Given the description of an element on the screen output the (x, y) to click on. 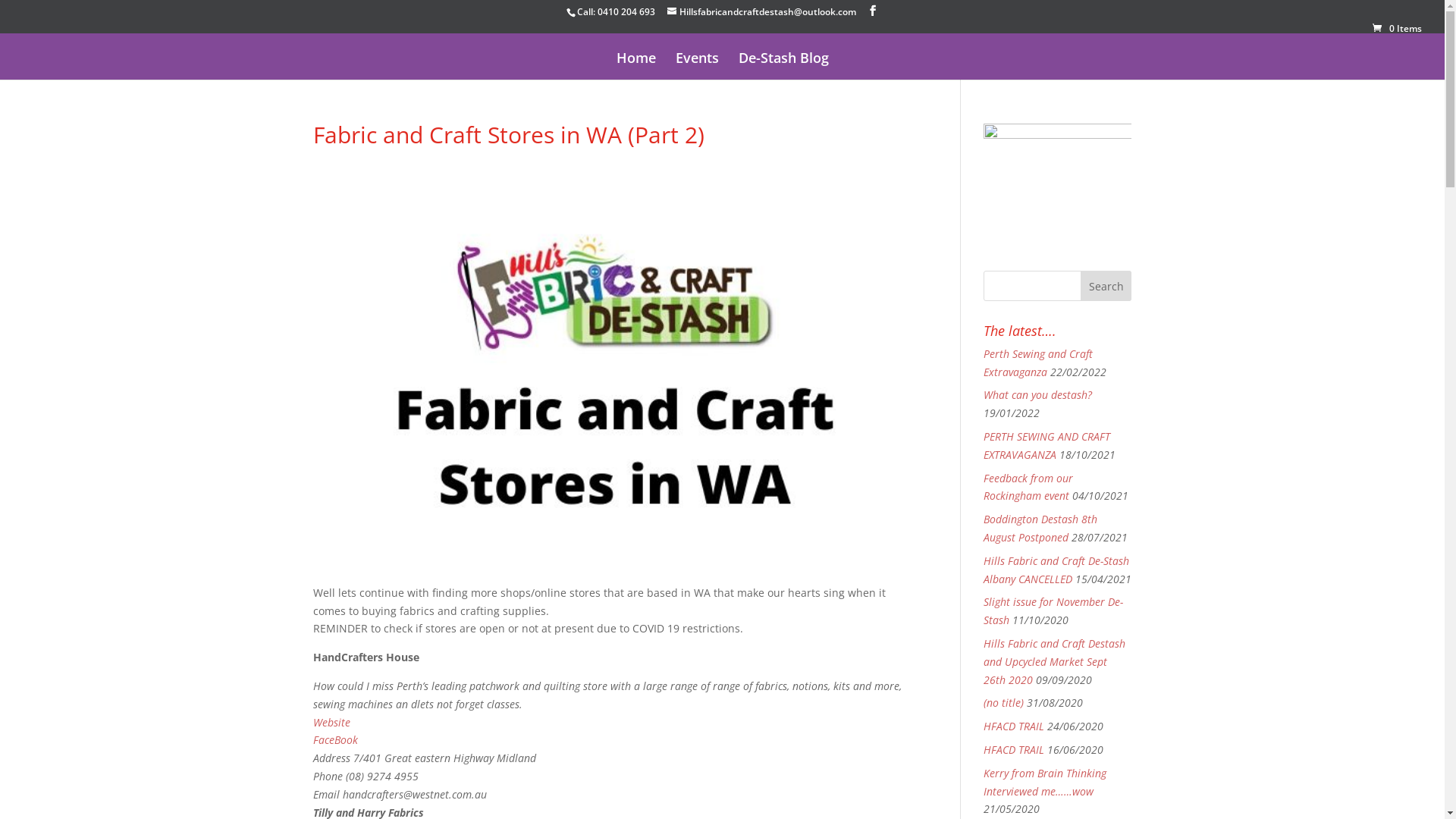
Call: 0410 204 693 Element type: text (616, 11)
What can you destash? Element type: text (1037, 394)
PERTH SEWING AND CRAFT EXTRAVAGANZA Element type: text (1046, 445)
Events Element type: text (696, 65)
Home Element type: text (635, 65)
Slight issue for November De-Stash Element type: text (1053, 610)
(no title) Element type: text (1003, 702)
Feedback from our Rockingham event Element type: text (1028, 486)
0 Items Element type: text (1396, 27)
HFACD TRAIL Element type: text (1013, 749)
Website Element type: text (330, 722)
HFACD TRAIL Element type: text (1013, 725)
Search Element type: text (1106, 285)
Hillsfabricandcraftdestash@outlook.com Element type: text (761, 11)
Boddington Destash 8th August Postponed Element type: text (1040, 527)
De-Stash Blog Element type: text (783, 65)
FaceBook Element type: text (334, 739)
Hills Fabric and Craft De-Stash Albany CANCELLED Element type: text (1056, 569)
Perth Sewing and Craft Extravaganza Element type: text (1037, 362)
